Given the description of an element on the screen output the (x, y) to click on. 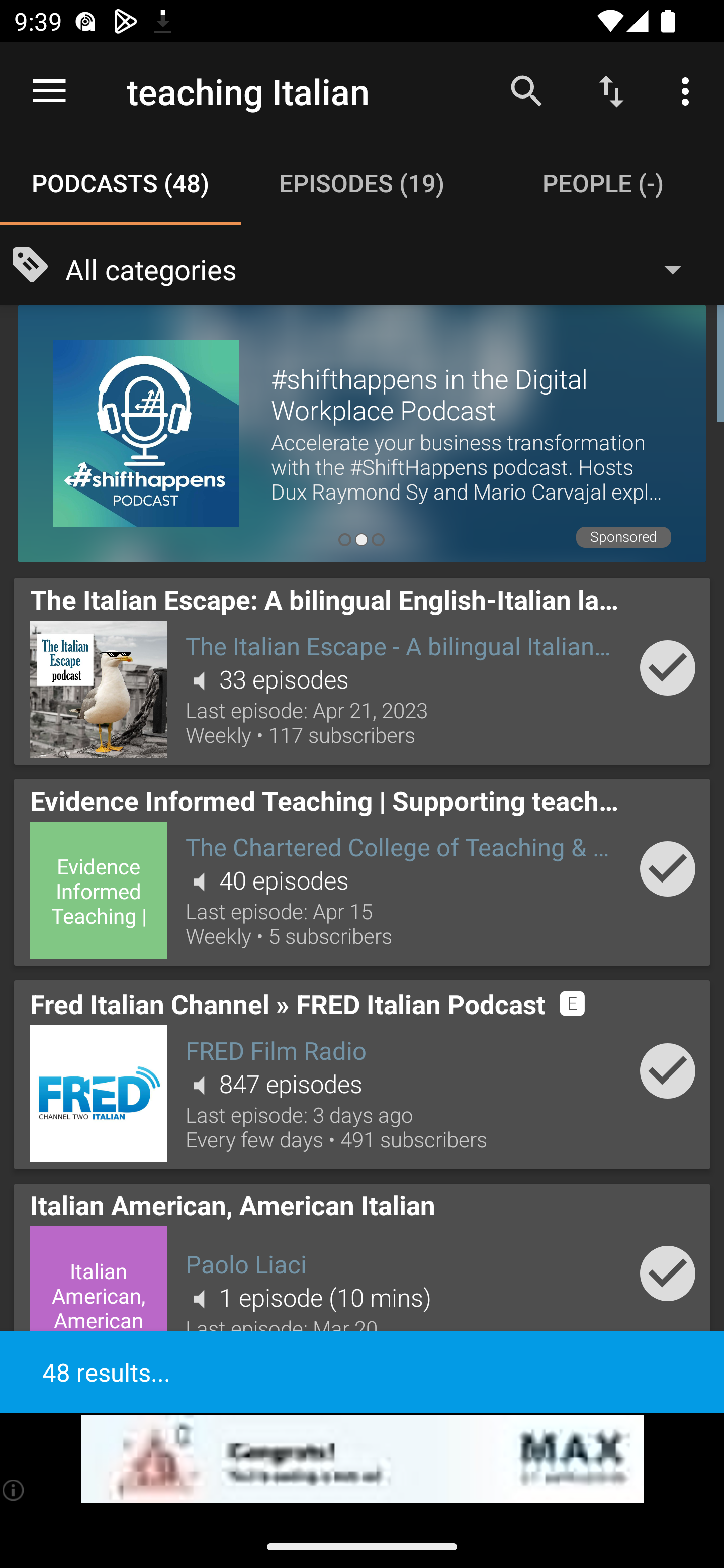
Open navigation sidebar (49, 91)
Search (526, 90)
Sort (611, 90)
More options (688, 90)
Episodes (19) EPISODES (19) (361, 183)
People (-) PEOPLE (-) (603, 183)
All categories (383, 268)
Add (667, 667)
Add (667, 868)
Add (667, 1070)
Add (667, 1272)
app-monetization (362, 1459)
(i) (14, 1489)
